Given the description of an element on the screen output the (x, y) to click on. 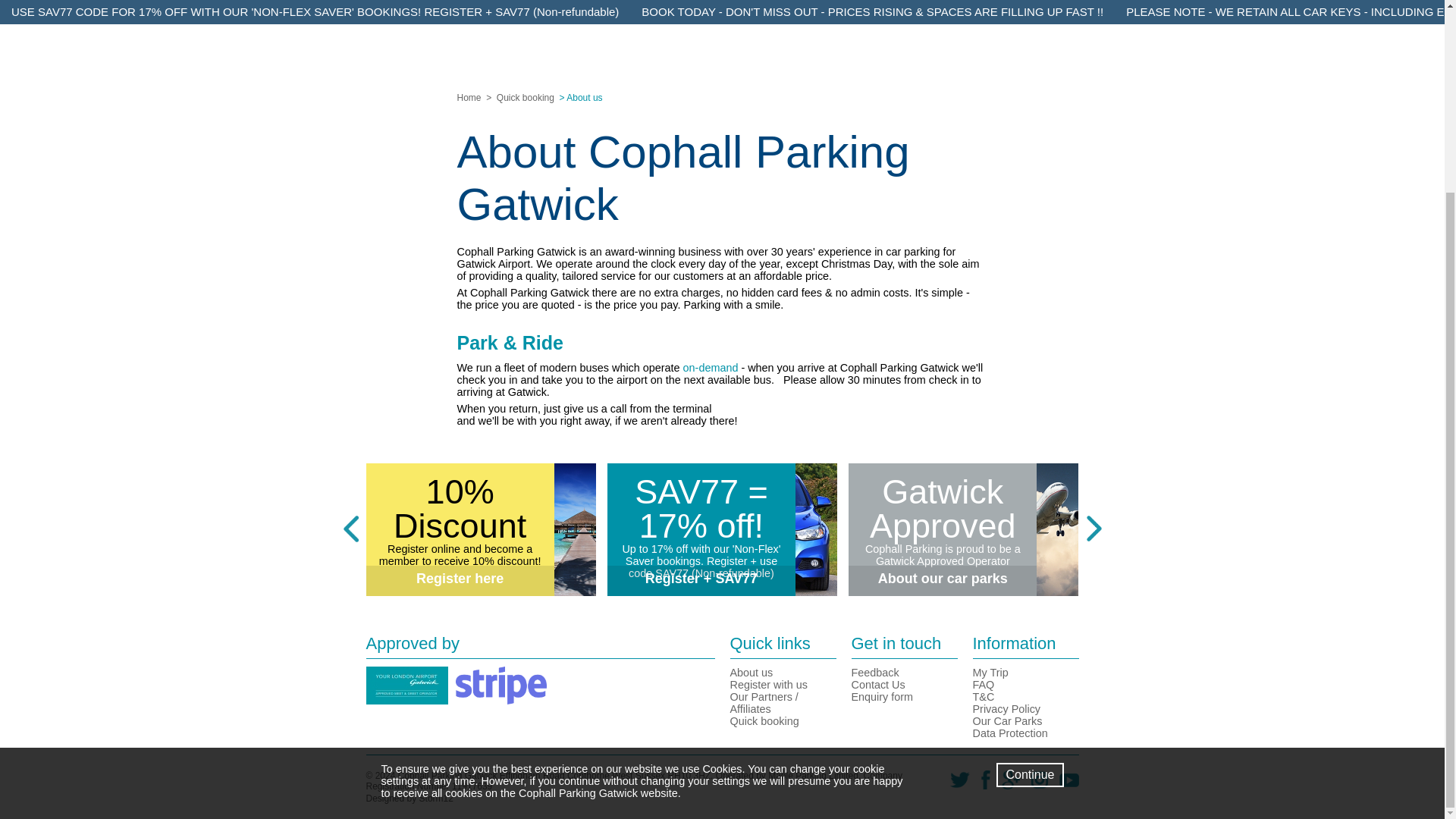
Quote me (722, 72)
Visit our Facebook page (980, 786)
Cophall Parking on Instagram (1034, 786)
Our YouTube channel (1063, 786)
Cophall Parking on Twitter (954, 786)
Gatwick car parking - Park and Ride (710, 367)
